Given the description of an element on the screen output the (x, y) to click on. 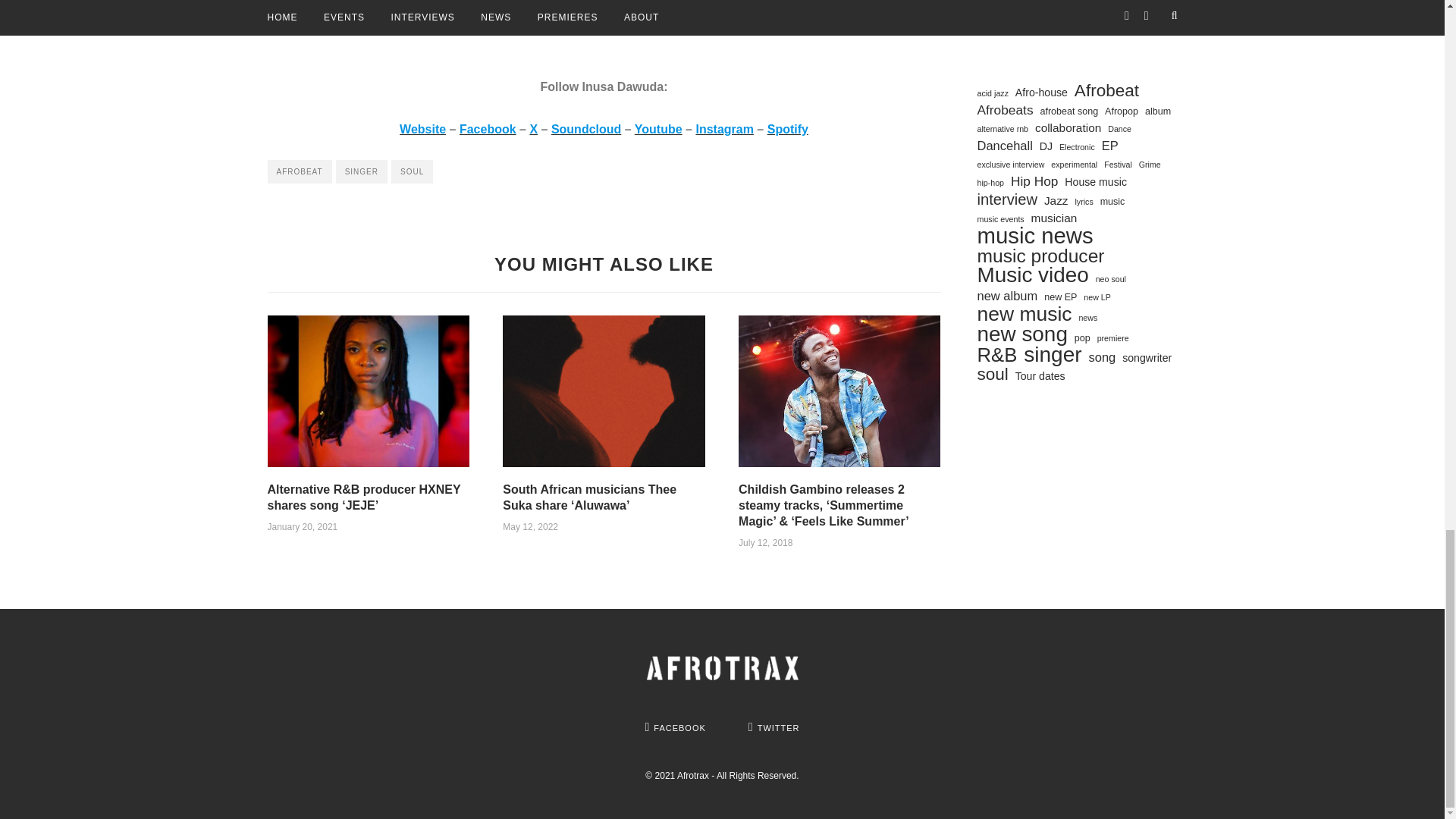
Spotify (787, 128)
Youtube (658, 128)
SOUL (411, 171)
Facebook (488, 128)
Soundcloud (586, 128)
Instagram (723, 128)
SINGER (361, 171)
Website (421, 128)
AFROBEAT (298, 171)
